Given the description of an element on the screen output the (x, y) to click on. 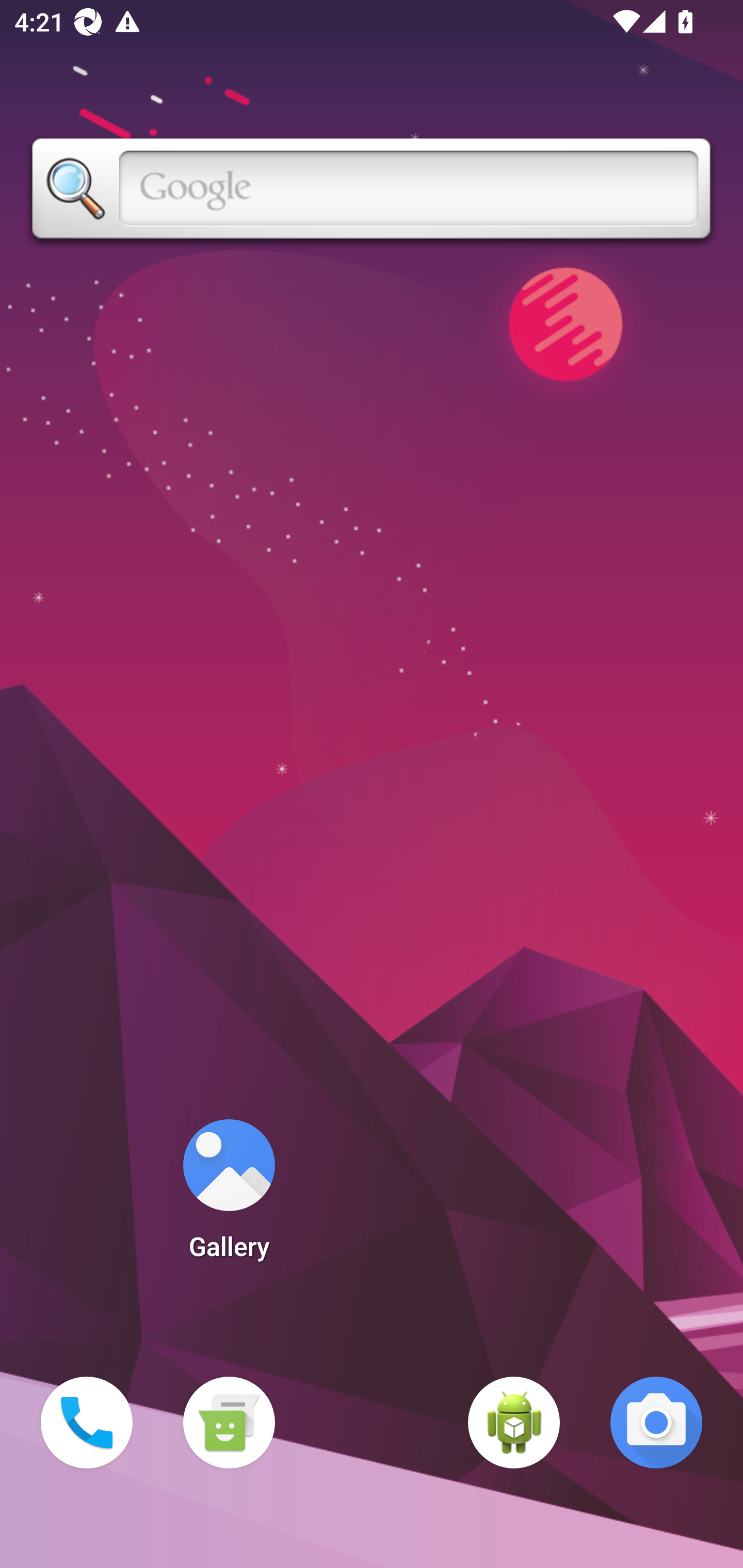
Gallery (228, 1195)
Phone (86, 1422)
Messaging (228, 1422)
WebView Browser Tester (513, 1422)
Camera (656, 1422)
